Given the description of an element on the screen output the (x, y) to click on. 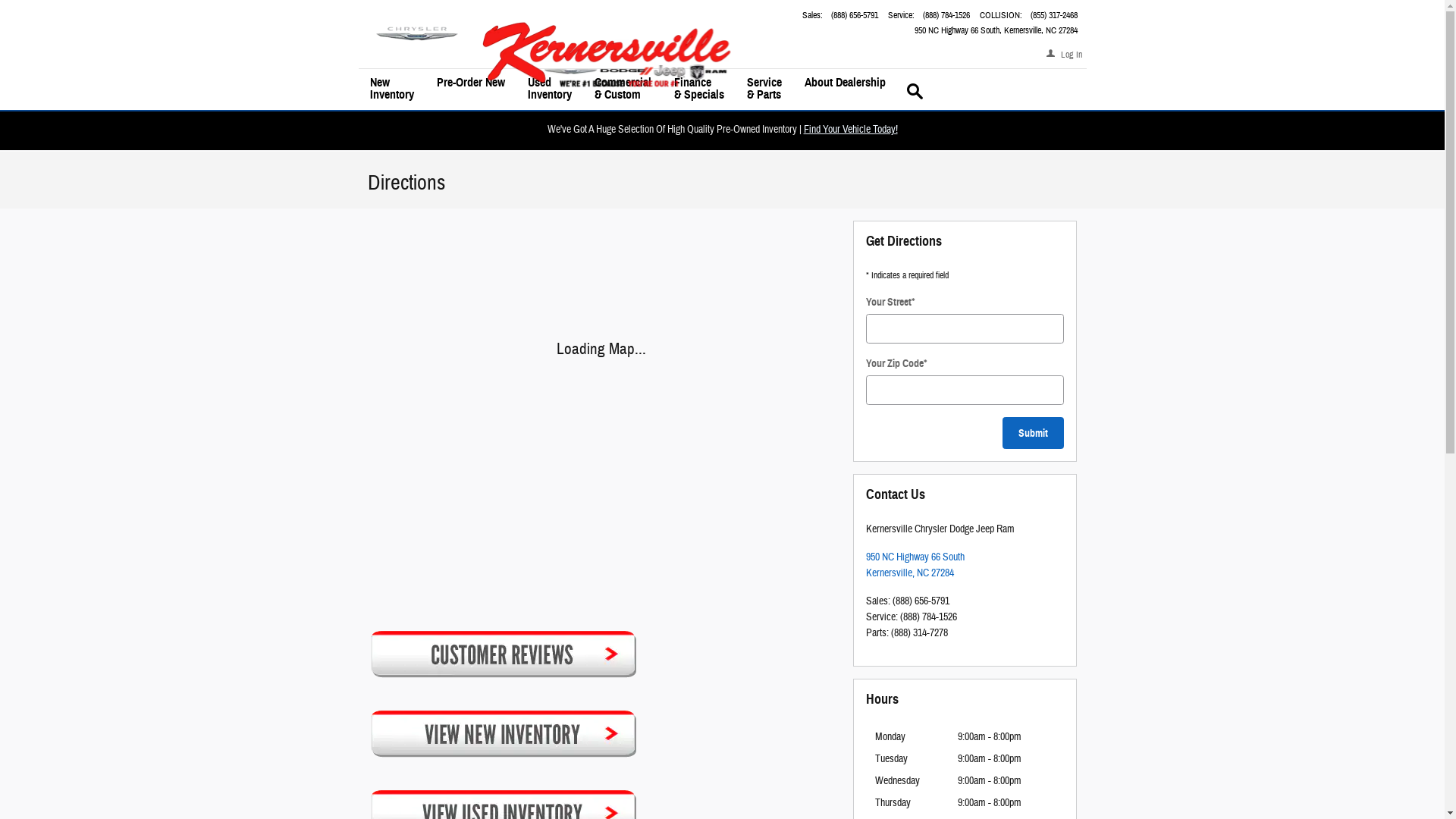
Used
Inventory Element type: text (548, 90)
VIEW-NEW-INVENTORY.png Element type: hover (502, 733)
Visit us at: 950 NC Highway 66 South Kernersville, NC 27284 Element type: text (367, 220)
950 NC Highway 66 South
Kernersville, NC 27284 Element type: text (995, 30)
950 NC Highway 66 South
Kernersville, NC 27284 Element type: text (915, 565)
undefined Element type: hover (600, 660)
Service
& Parts Element type: text (764, 90)
undefined Element type: hover (600, 740)
New
Inventory Element type: text (390, 90)
Log In Element type: text (1064, 55)
Submit Element type: text (1032, 432)
CUSTOMER-REVIEWS.png Element type: hover (502, 653)
Commercial
& Custom Element type: text (622, 90)
Pre-Order New Element type: text (469, 90)
Skip to main content Element type: text (0, 0)
Search the whole site!  Element type: hover (914, 90)
About Dealership Element type: text (845, 90)
Finance
& Specials Element type: text (698, 90)
Find Your Vehicle Today! Element type: text (850, 129)
Home Element type: hover (416, 34)
